Given the description of an element on the screen output the (x, y) to click on. 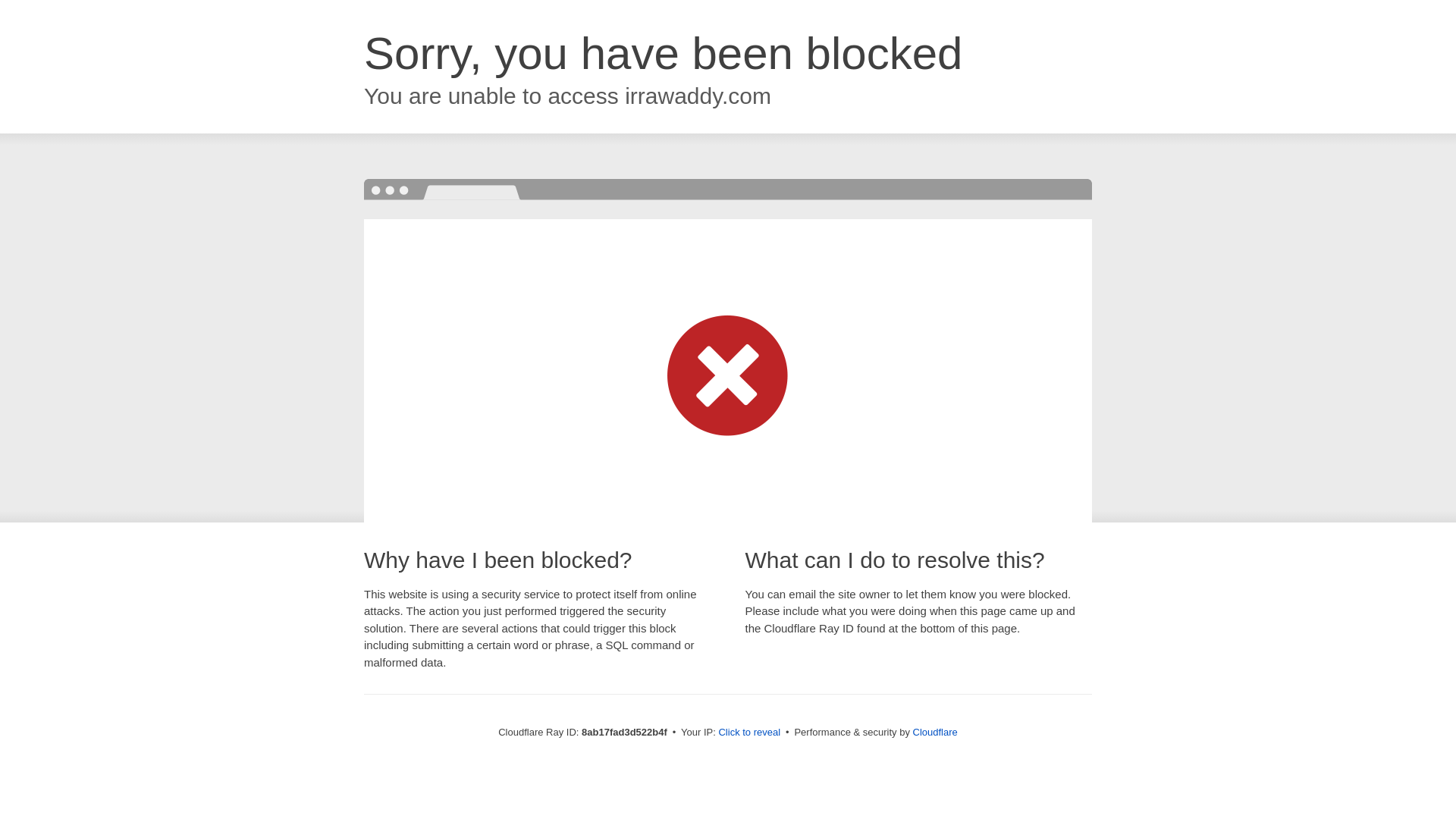
Cloudflare (935, 731)
Click to reveal (748, 732)
